Given the description of an element on the screen output the (x, y) to click on. 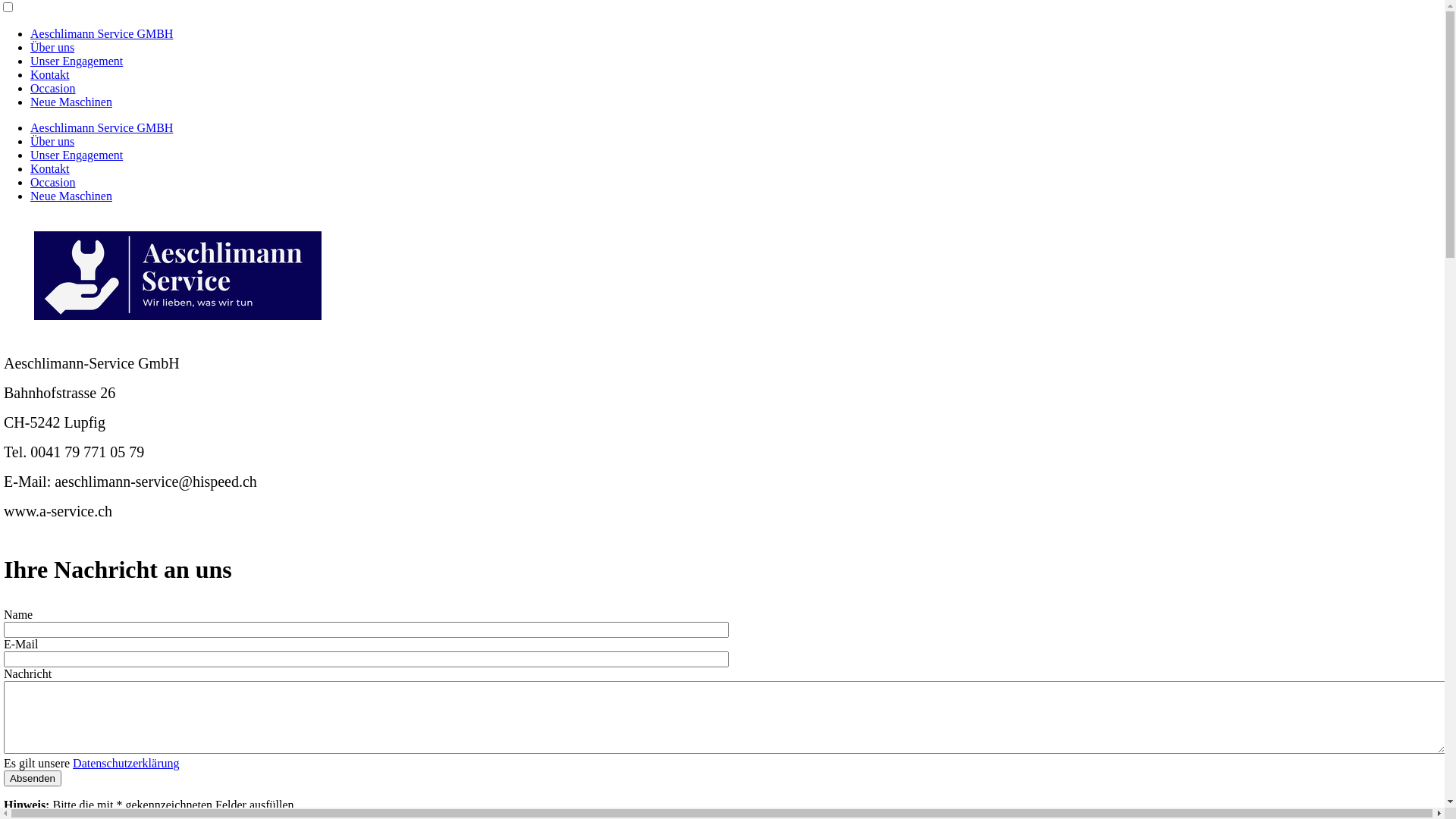
Occasion Element type: text (52, 87)
Kontakt Element type: text (49, 168)
Aeschlimann Service GMBH Element type: text (101, 127)
Occasion Element type: text (52, 181)
Aeschlimann Service GMBH Element type: text (101, 33)
Unser Engagement Element type: text (76, 60)
Neue Maschinen Element type: text (71, 101)
Absenden Element type: text (32, 778)
Neue Maschinen Element type: text (71, 195)
Kontakt Element type: text (49, 74)
Unser Engagement Element type: text (76, 154)
